Given the description of an element on the screen output the (x, y) to click on. 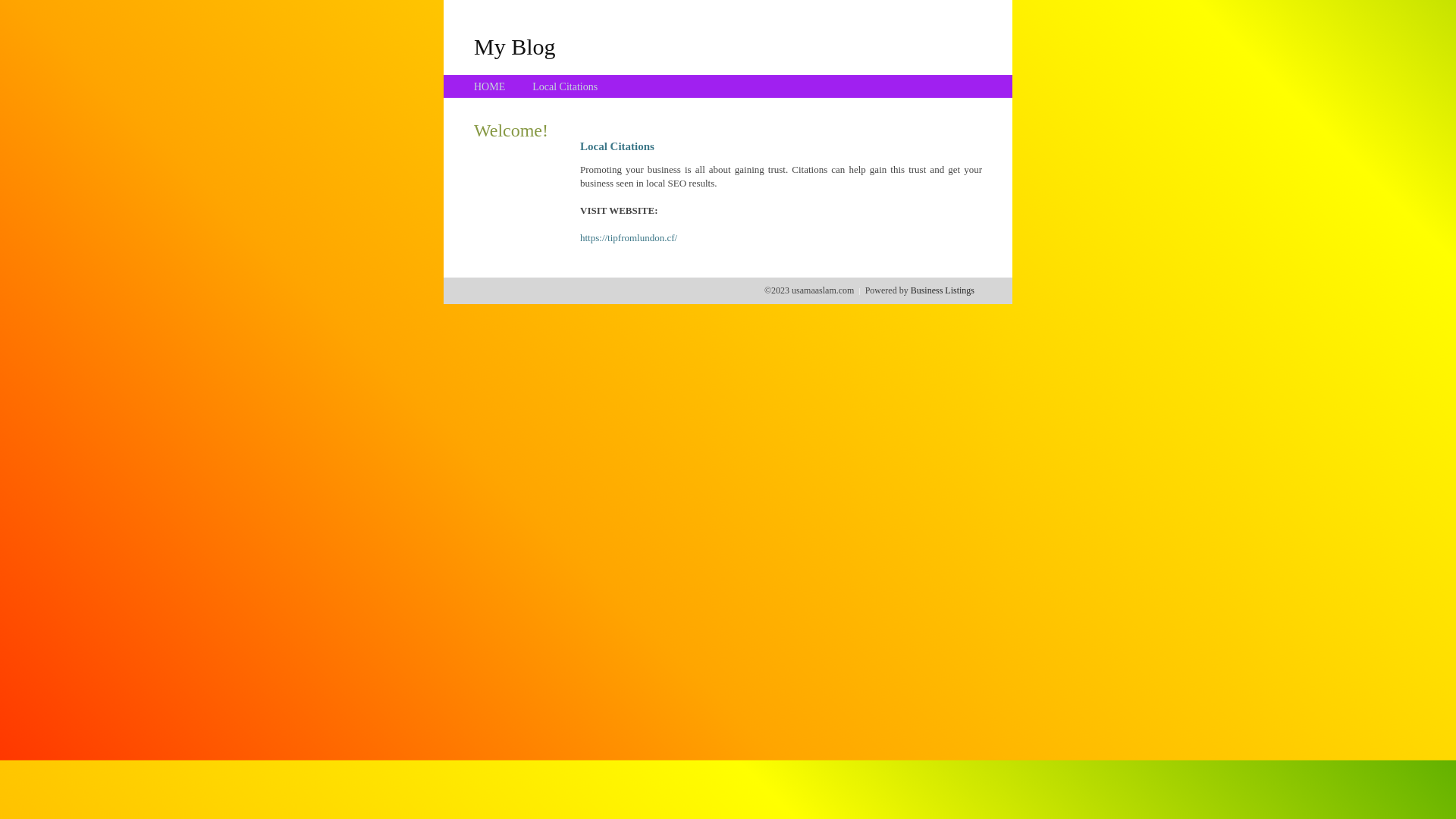
Local Citations Element type: text (564, 86)
https://tipfromlundon.cf/ Element type: text (628, 237)
HOME Element type: text (489, 86)
My Blog Element type: text (514, 46)
Business Listings Element type: text (942, 290)
